Given the description of an element on the screen output the (x, y) to click on. 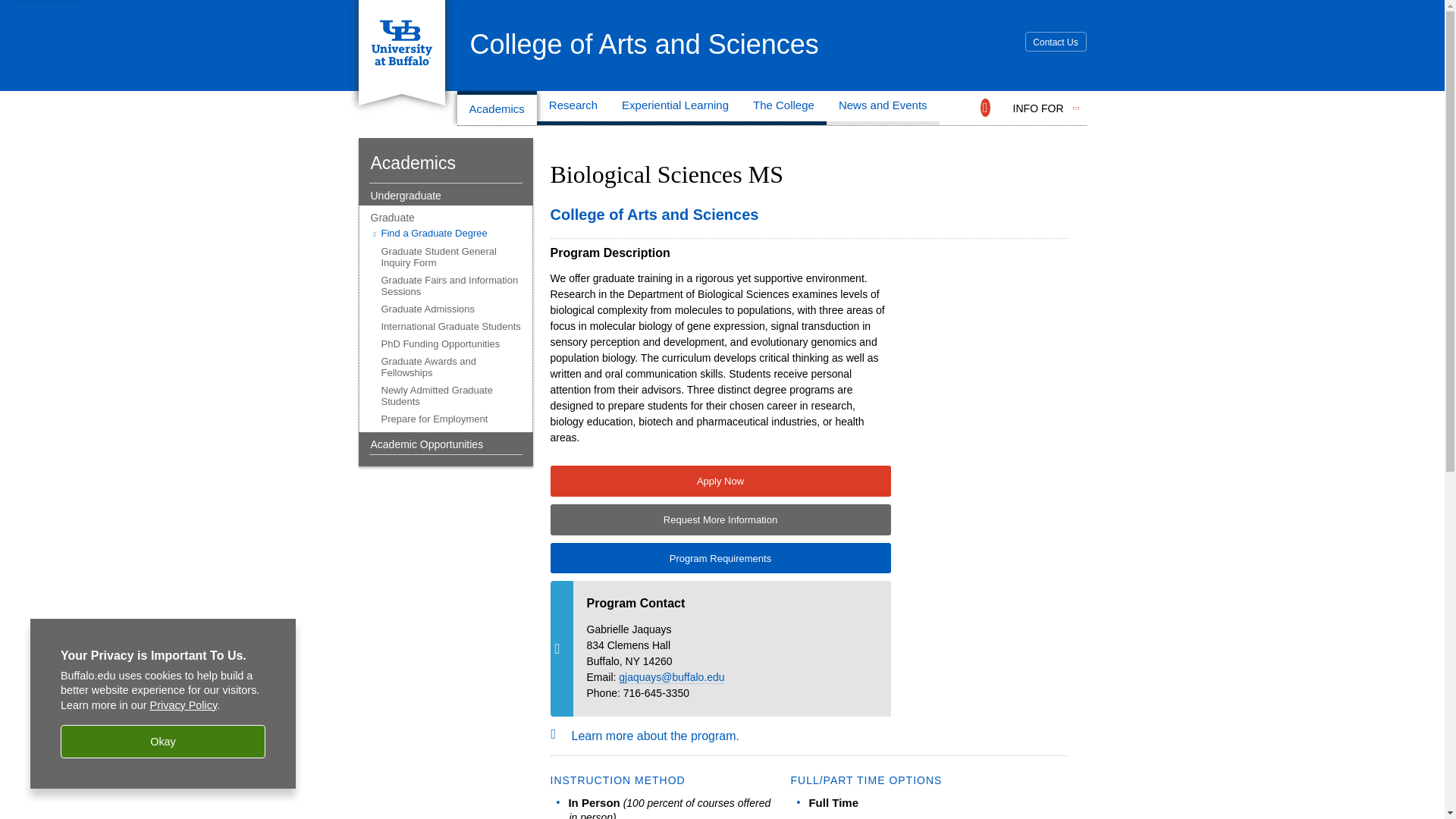
Contact Us (1055, 41)
College of Arts and Sciences (644, 43)
Academics (496, 107)
